Given the description of an element on the screen output the (x, y) to click on. 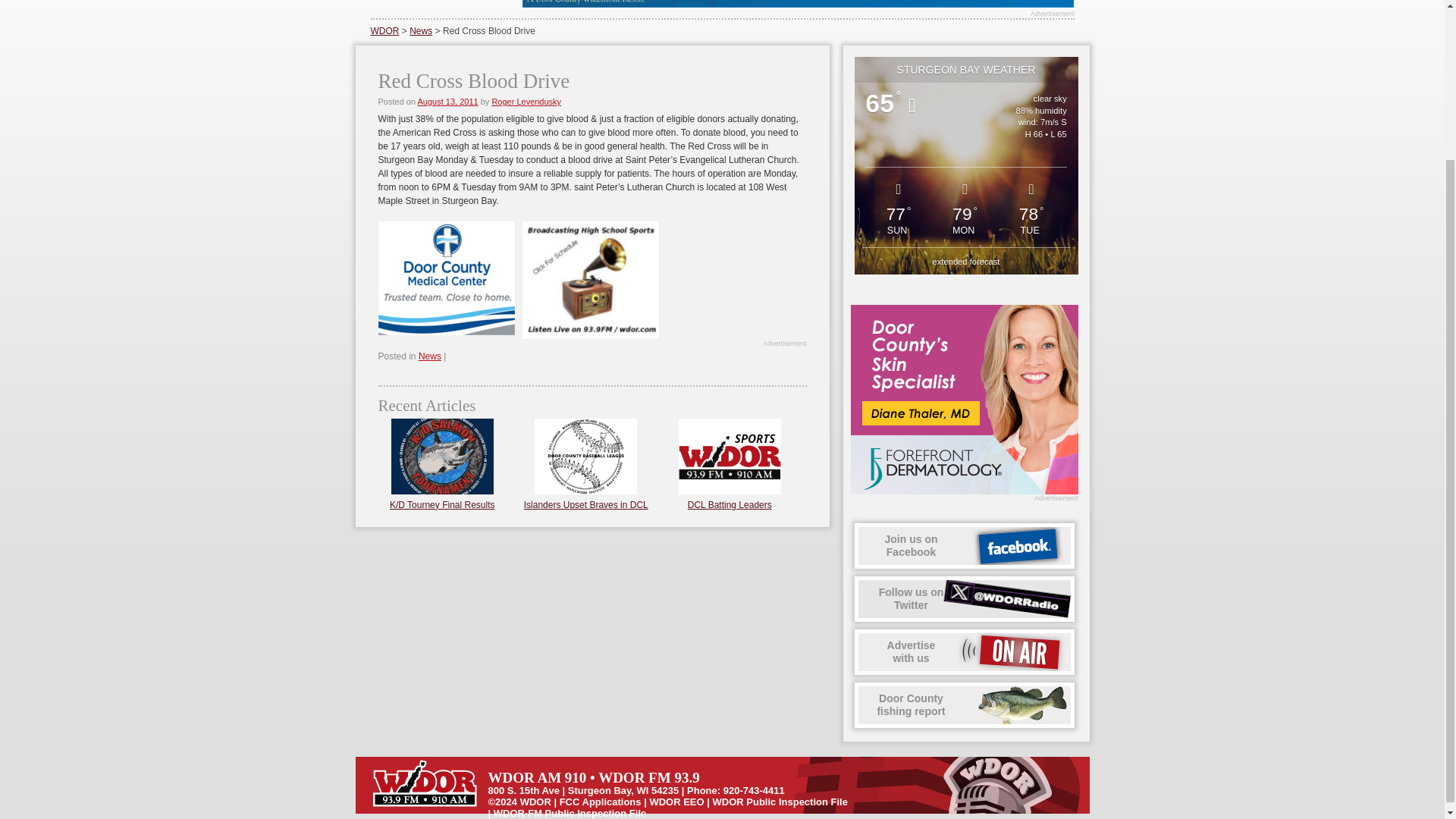
FCC Applications (600, 801)
WDOR EEO (964, 546)
WDOR Public Inspection File (676, 801)
News (780, 801)
Sports Schedule (420, 30)
Roger Levendusky (589, 280)
Islanders Upset Braves in DCL (526, 101)
WDOR (585, 504)
DCL Batting Leaders (383, 30)
View all posts by Roger Levendusky (964, 598)
Go to WDOR. (729, 504)
